Given the description of an element on the screen output the (x, y) to click on. 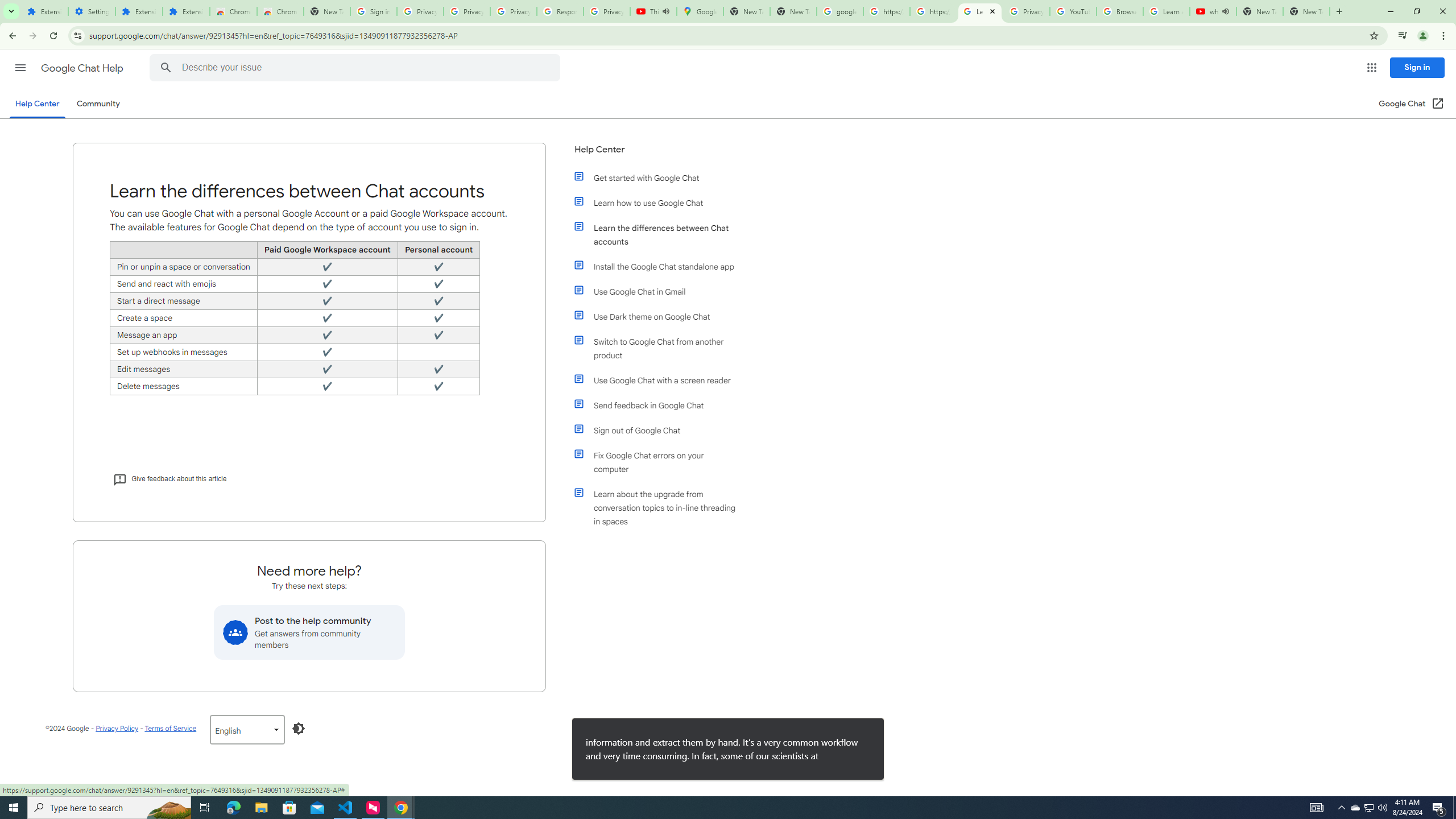
Browse Chrome as a guest - Computer - Google Chrome Help (1120, 11)
Use Dark theme on Google Chat (661, 316)
Get started with Google Chat (661, 177)
Use Google Chat with a screen reader (661, 380)
Google Maps (699, 11)
Send feedback in Google Chat (661, 405)
New Tab (1306, 11)
Google Chat (Open in a new window) (1410, 103)
